Given the description of an element on the screen output the (x, y) to click on. 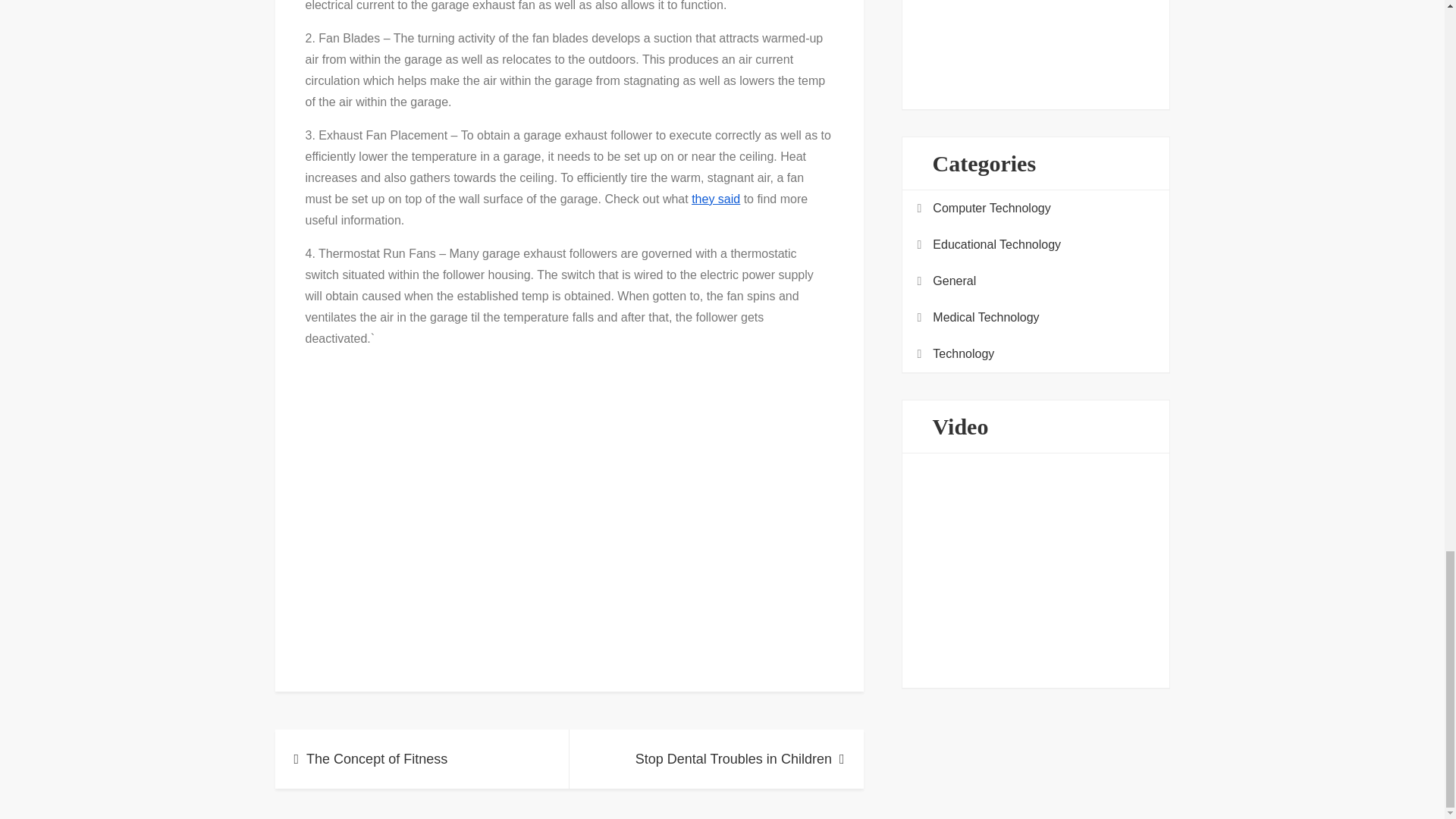
Stop Dental Troubles in Children (716, 758)
The Concept of Fitness (422, 758)
Computer Technology (991, 208)
Medical Technology (986, 317)
General (954, 281)
they said (715, 198)
Educational Technology (997, 244)
